Given the description of an element on the screen output the (x, y) to click on. 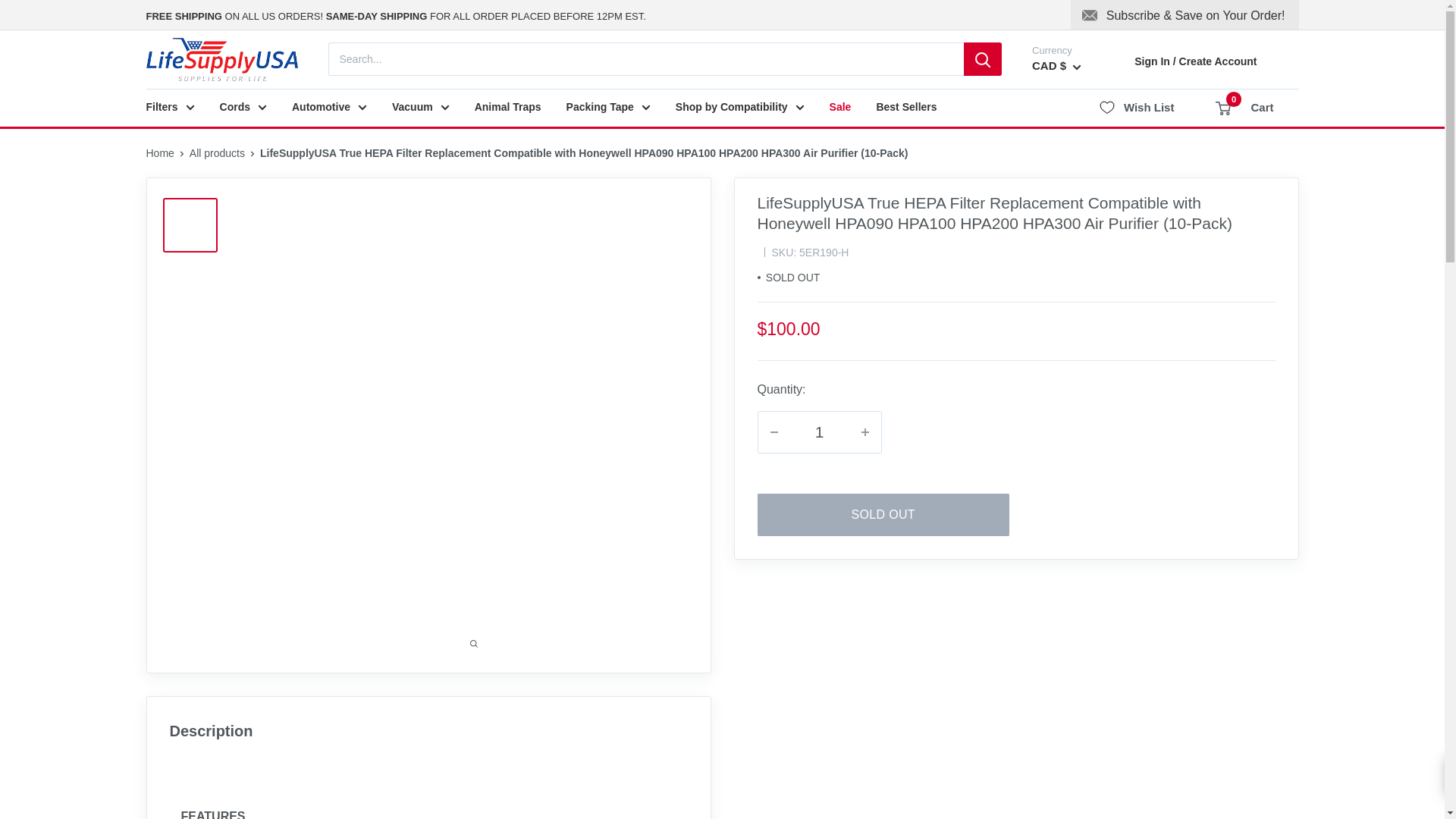
1 (819, 431)
